Given the description of an element on the screen output the (x, y) to click on. 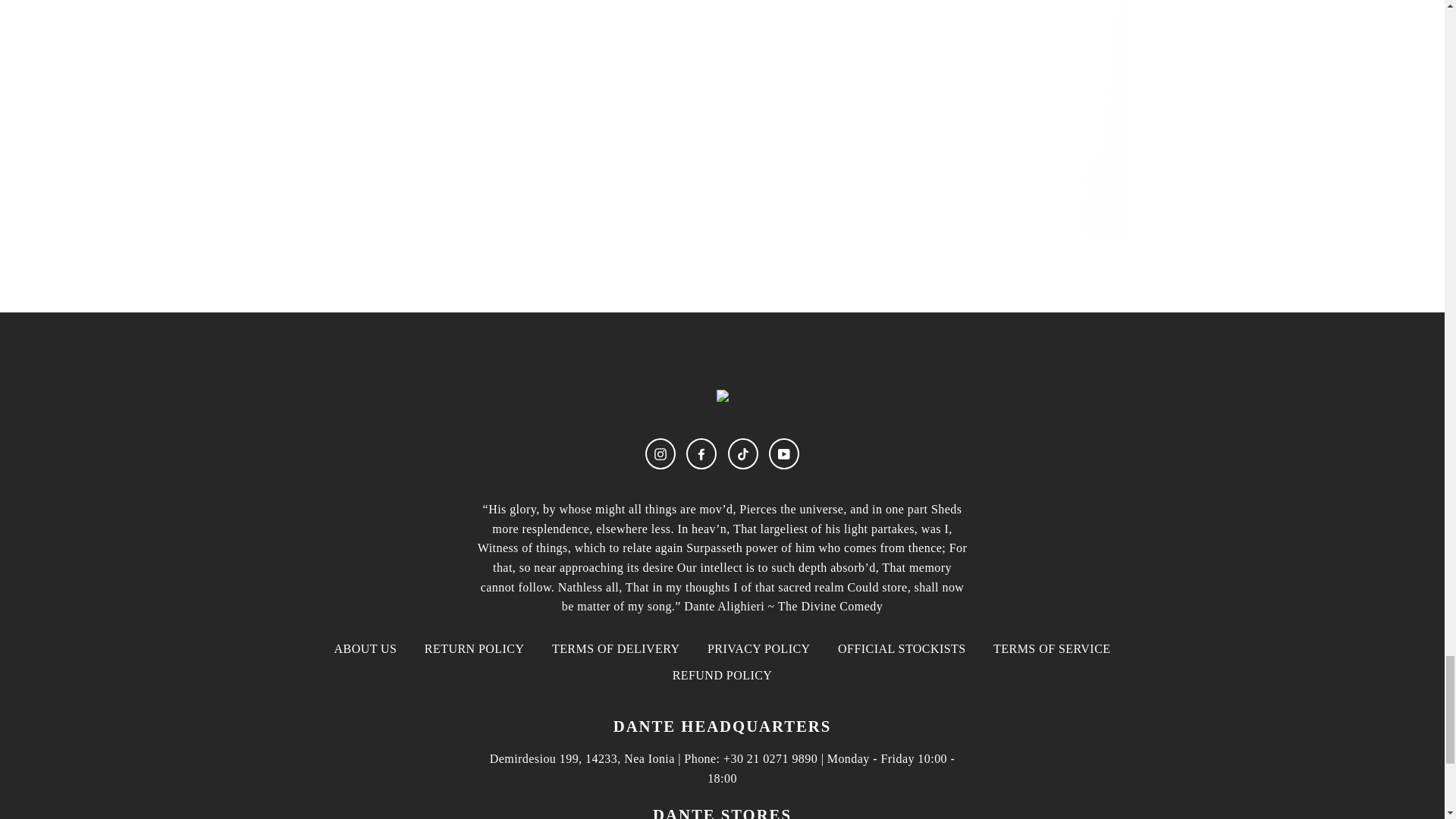
Dante Men  on TikTok (743, 453)
Dante Men  on Instagram (660, 453)
Dante Men  on Facebook (700, 453)
Dante Men  on YouTube (783, 453)
